Given the description of an element on the screen output the (x, y) to click on. 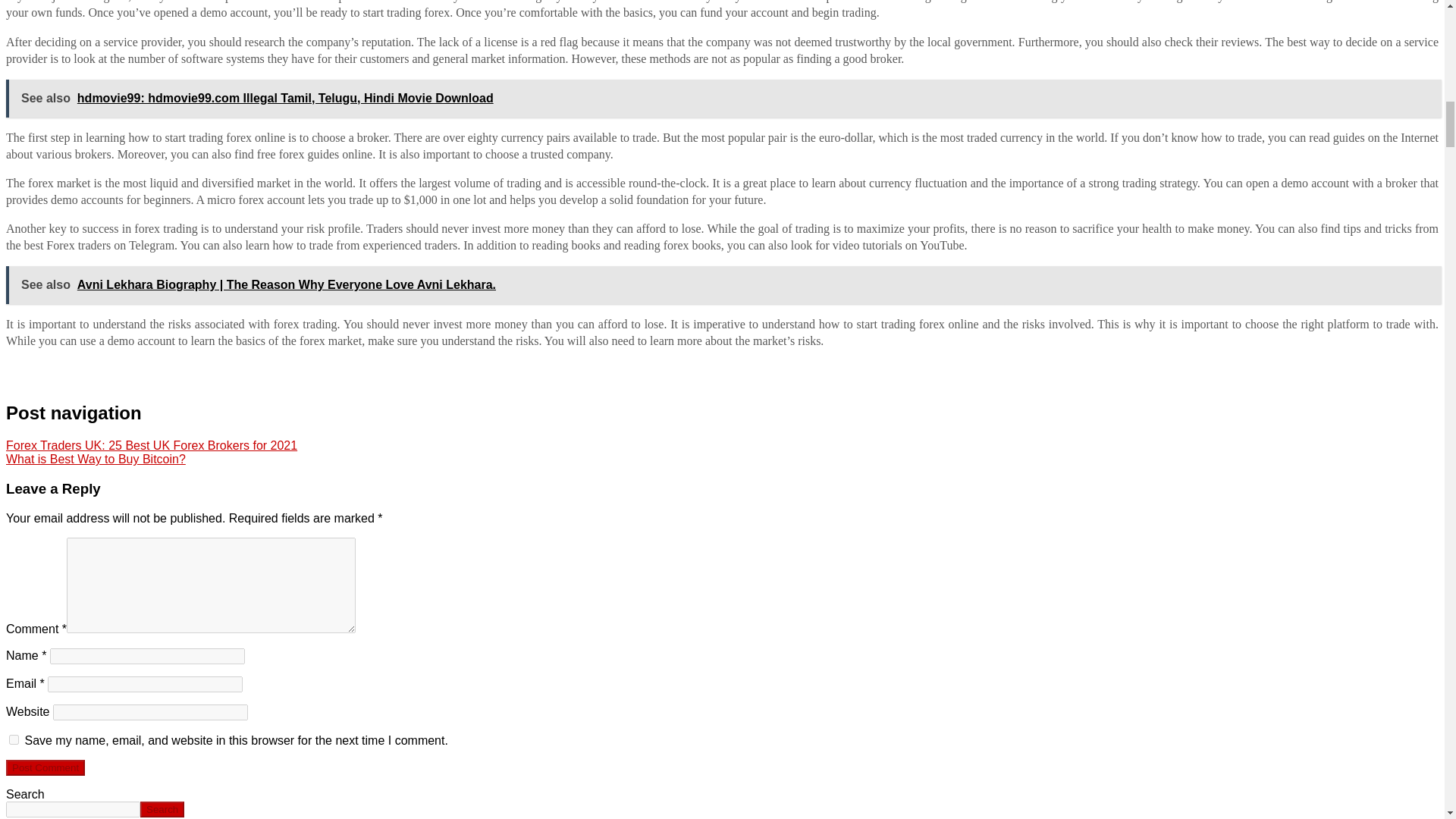
yes (13, 739)
Post Comment (44, 767)
